Given the description of an element on the screen output the (x, y) to click on. 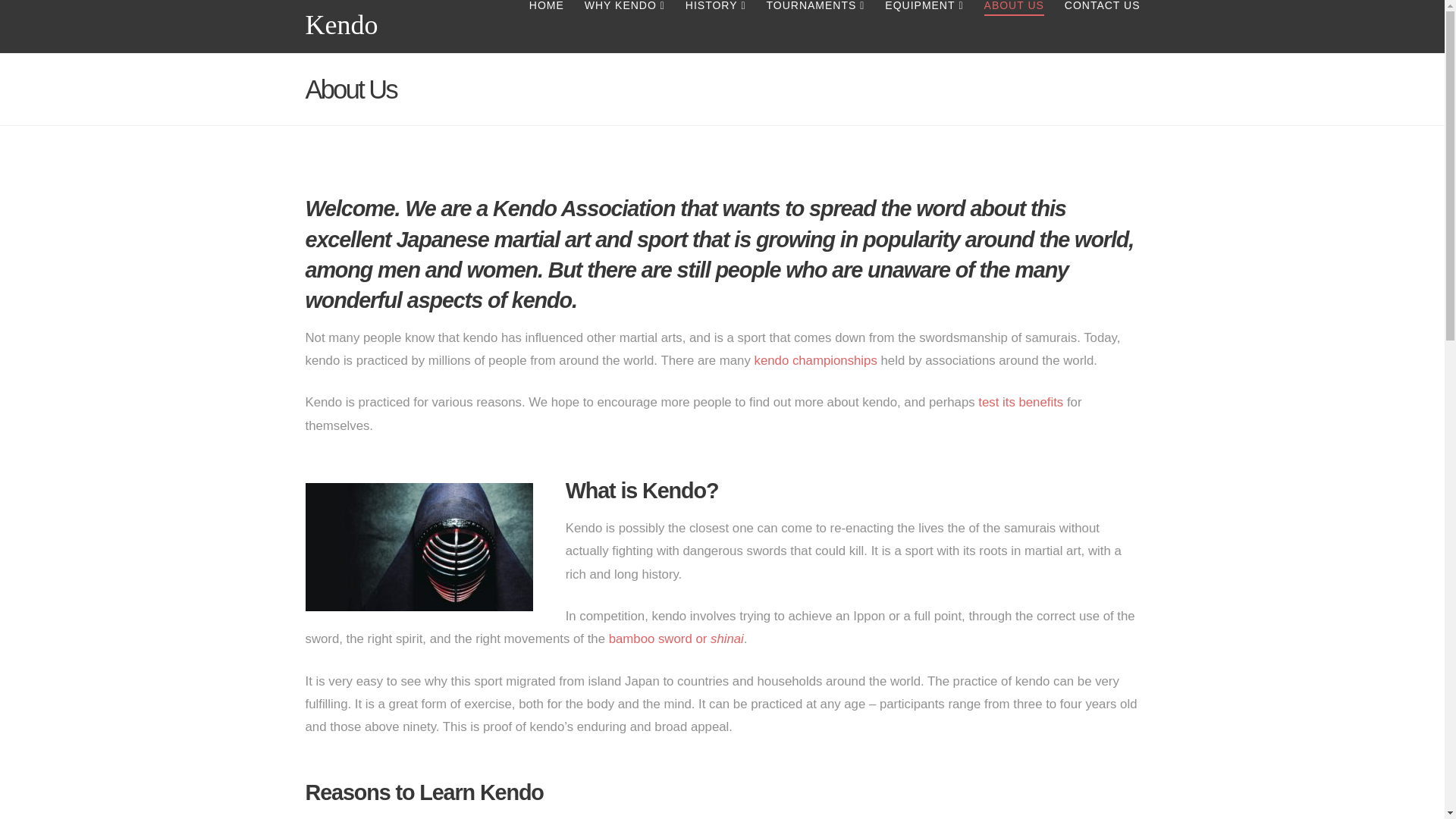
EQUIPMENT (923, 26)
kendo championships (815, 359)
test its benefits (1020, 401)
HOME (545, 26)
HISTORY (715, 26)
CONTACT US (1097, 26)
bamboo sword or shinai (676, 638)
ABOUT US (1014, 26)
TOURNAMENTS (815, 26)
Kendo (340, 24)
